Given the description of an element on the screen output the (x, y) to click on. 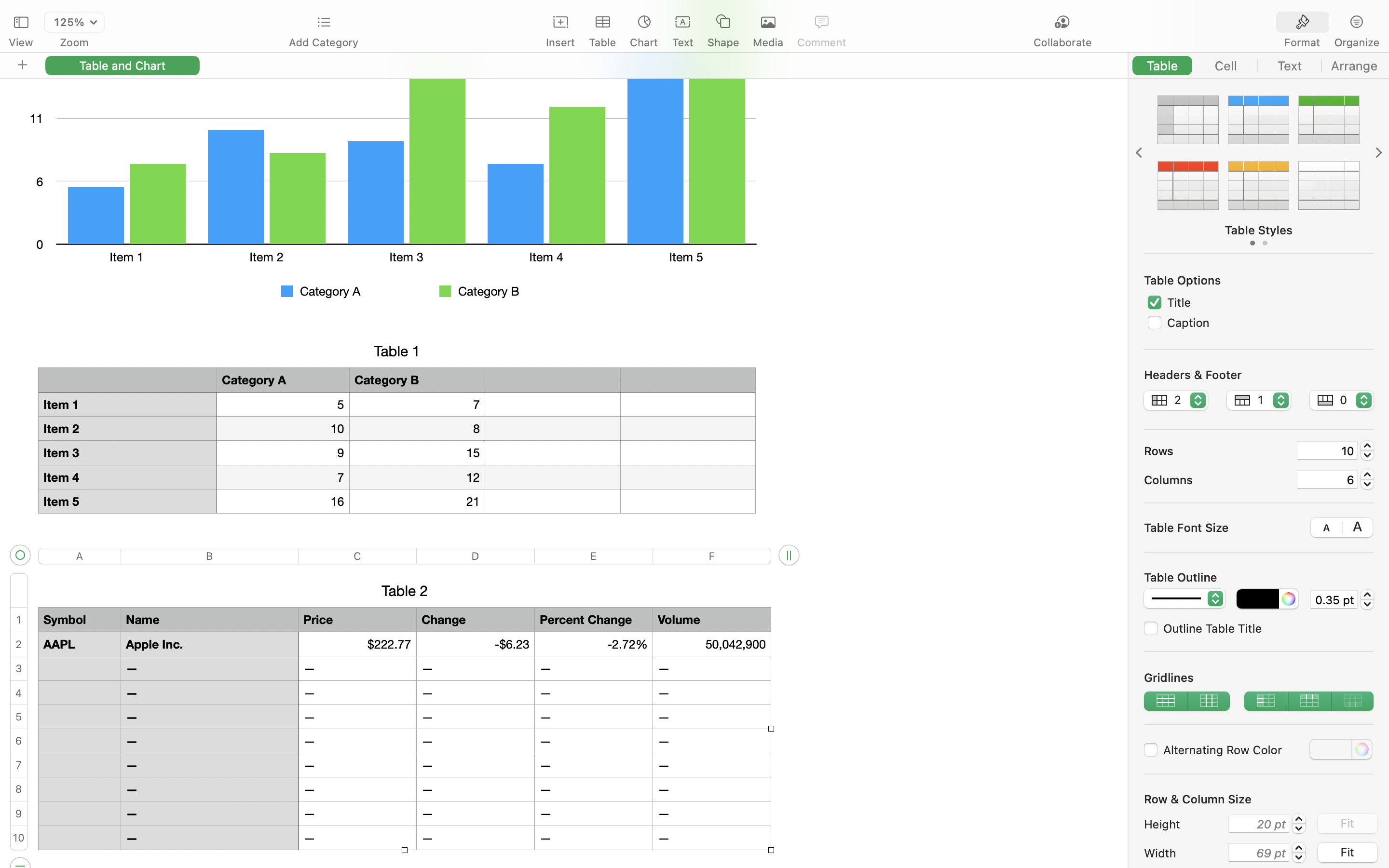
Width Element type: AXStaticText (1183, 852)
Untitled Element type: AXStaticText (667, 12)
<AXUIElement 0x146bd92d0> {pid=1420} Element type: AXRadioGroup (1258, 65)
Rows Element type: AXStaticText (1216, 450)
